Given the description of an element on the screen output the (x, y) to click on. 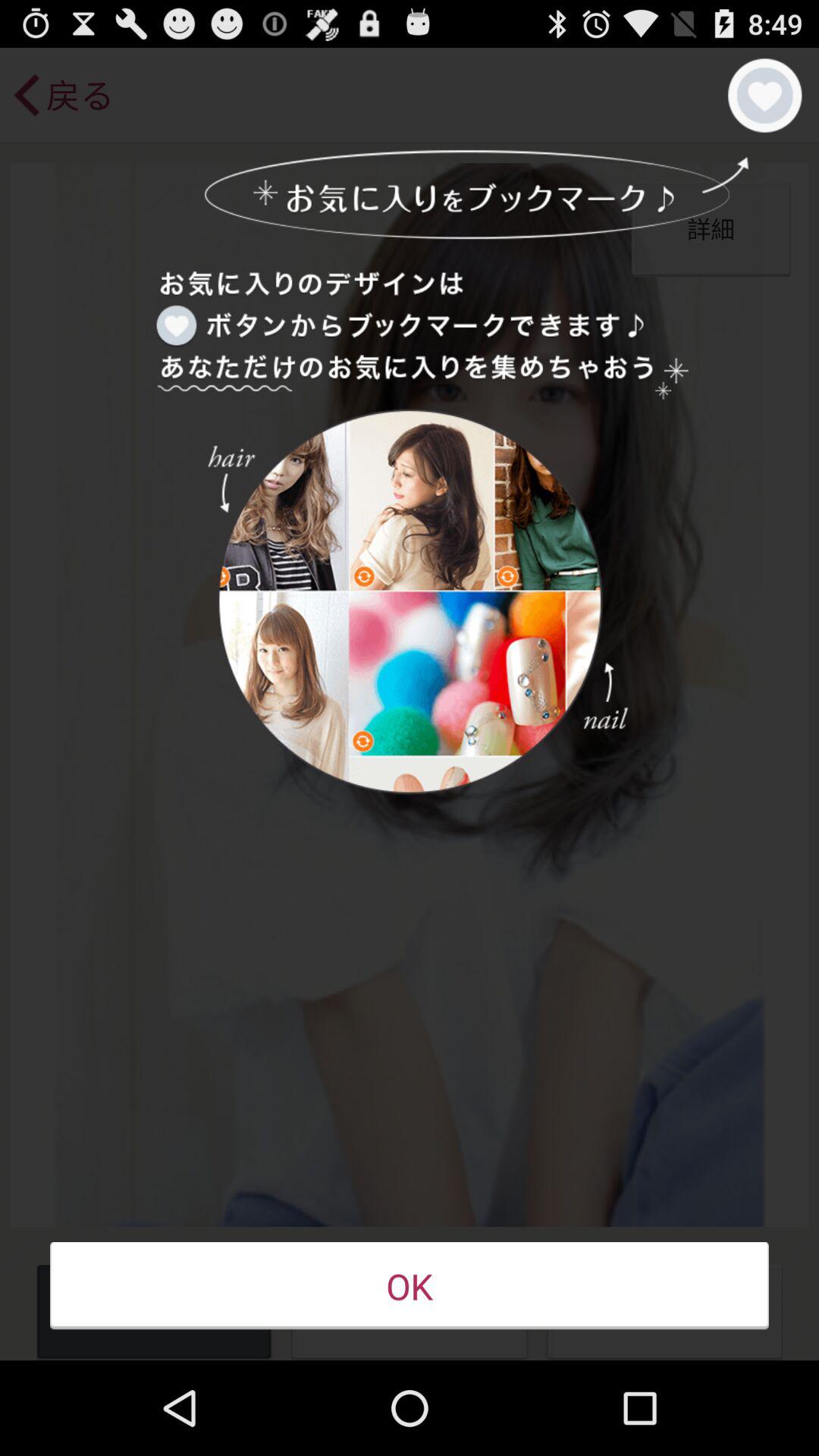
choose the item at the top right corner (764, 95)
